Given the description of an element on the screen output the (x, y) to click on. 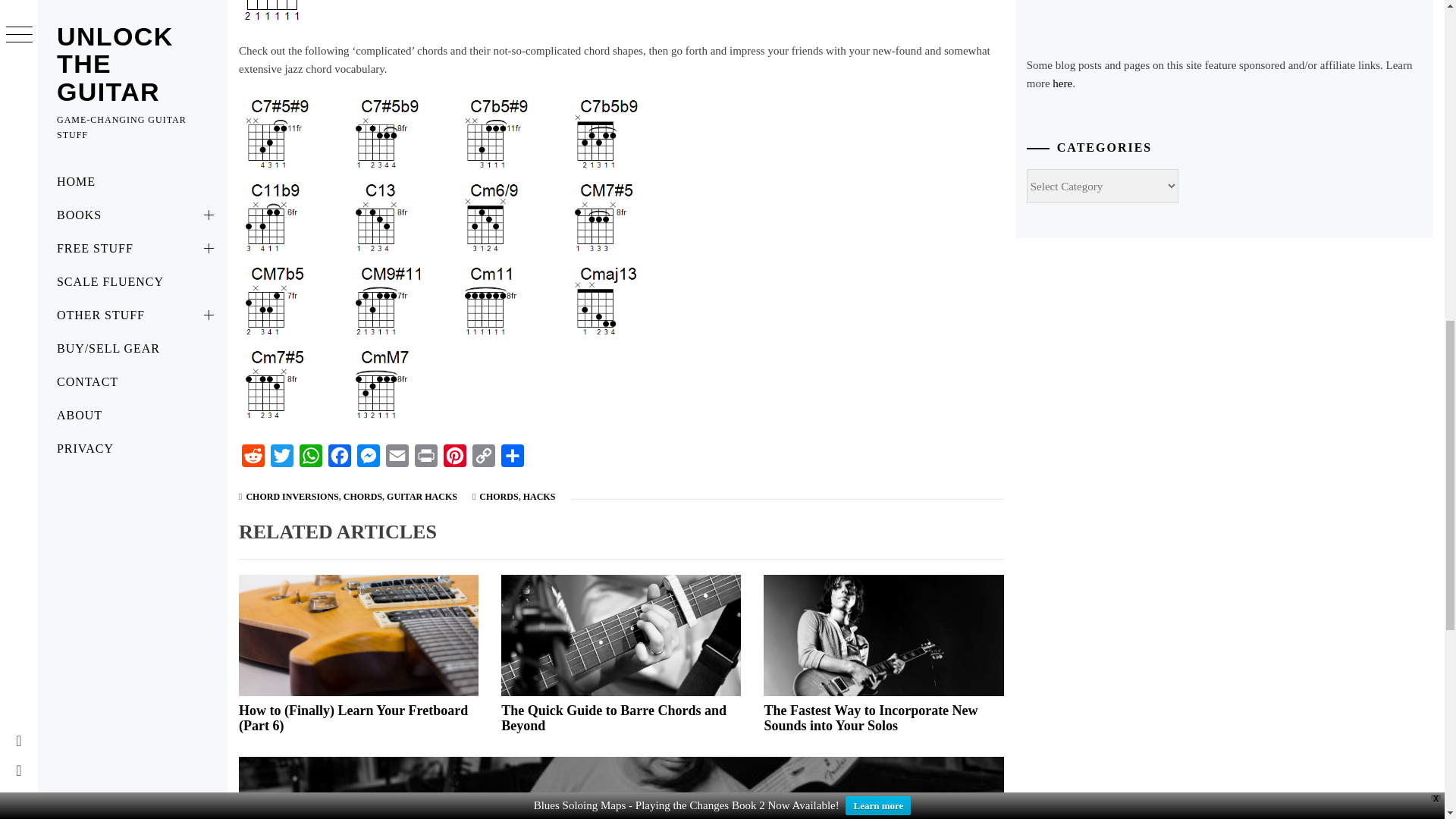
WhatsApp (310, 459)
Copy Link (482, 459)
Pinterest (454, 459)
Twitter (282, 459)
Email (397, 459)
Reddit (252, 459)
Messenger (367, 459)
Facebook (338, 459)
Print (426, 459)
